Given the description of an element on the screen output the (x, y) to click on. 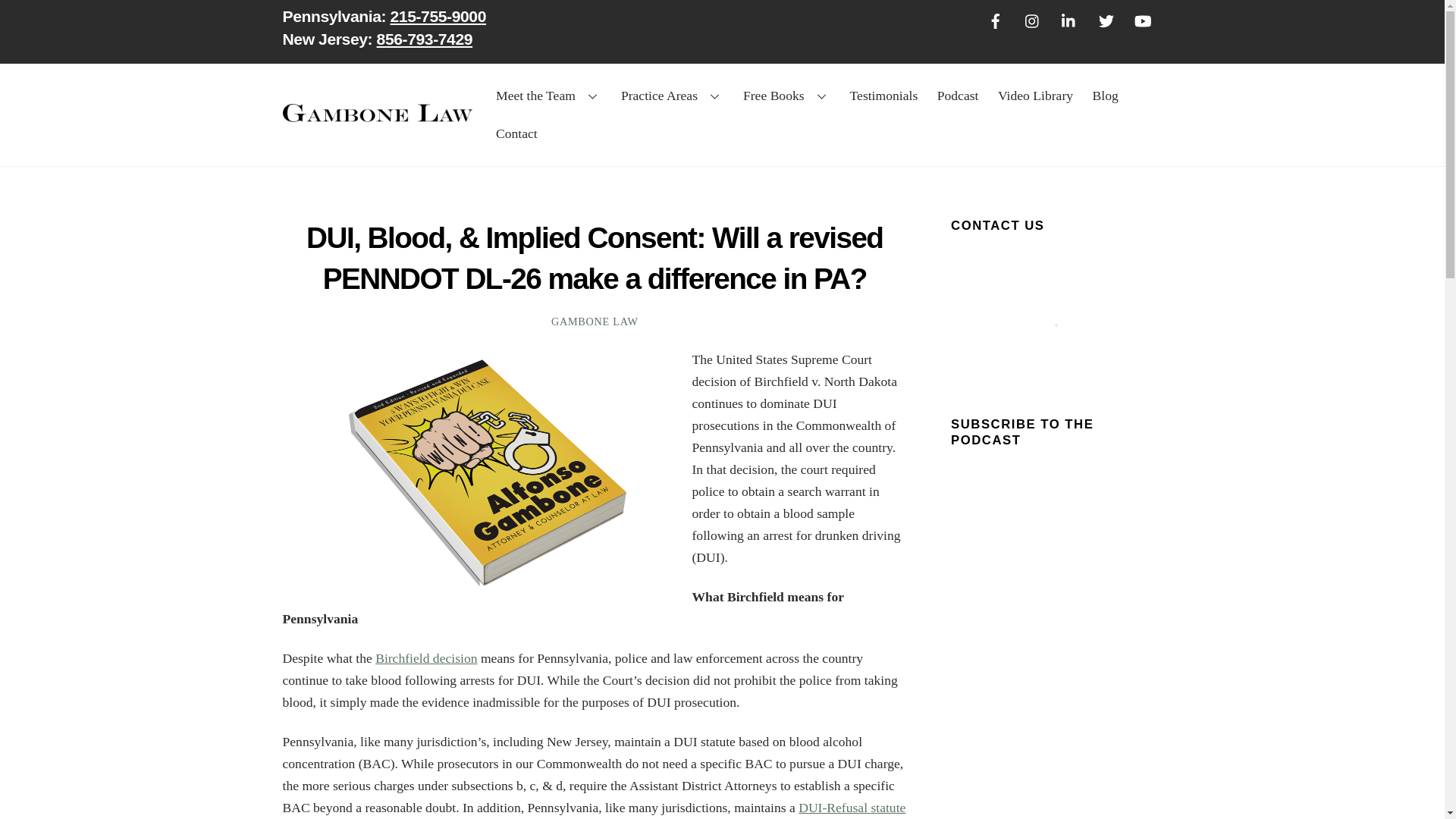
Podcast (957, 95)
Birchfield decision (426, 657)
856-793-7429 (425, 38)
Practice Areas (672, 95)
Meet the Team (721, 31)
GAMBONE LAW (548, 95)
Testimonials (595, 321)
Blog (883, 95)
Contact (1104, 95)
